Given the description of an element on the screen output the (x, y) to click on. 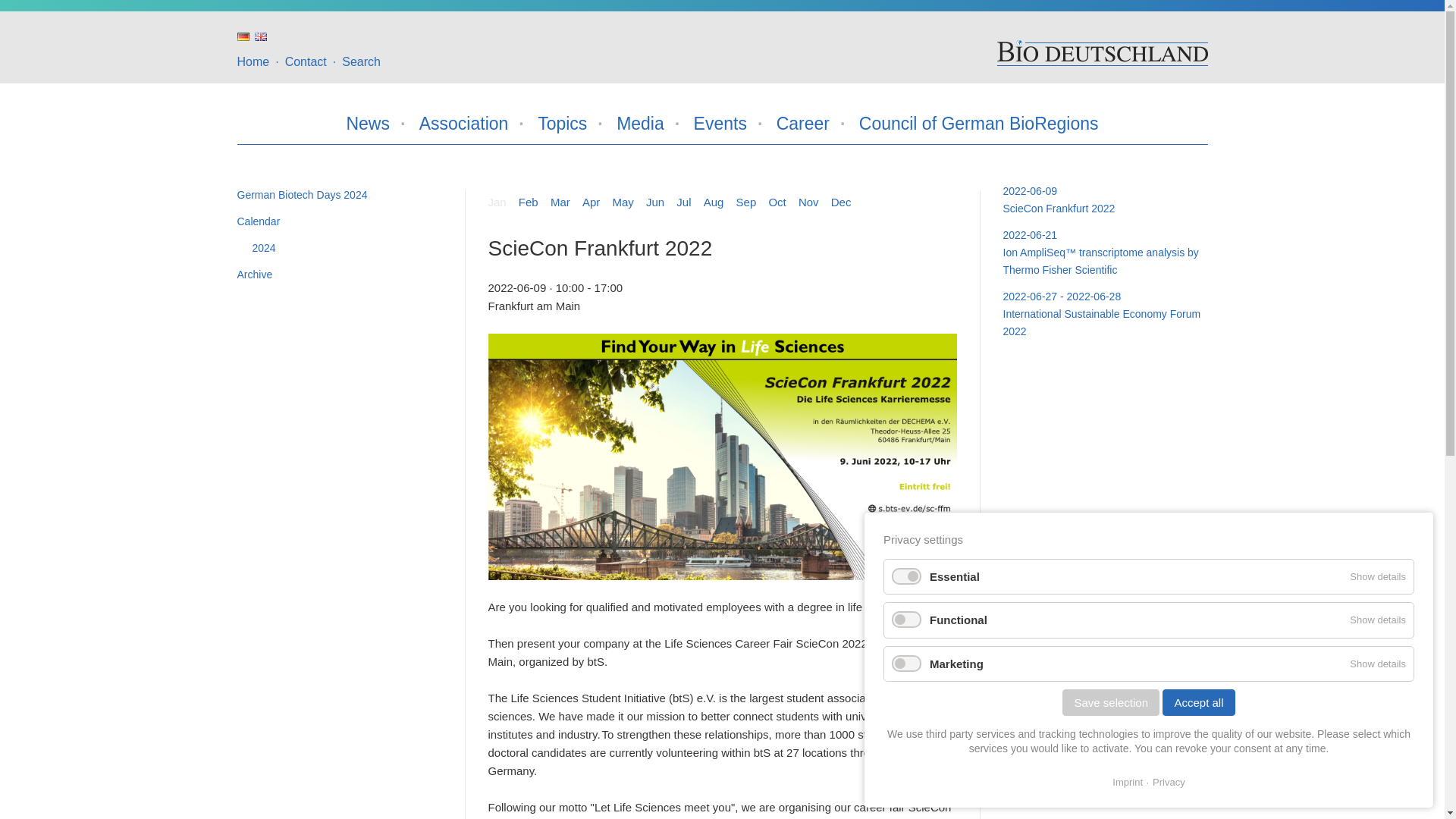
Mar (560, 202)
Search results (361, 61)
Career (802, 123)
Archive (338, 274)
Topics (561, 123)
Topics (561, 123)
Feb (528, 202)
Media (639, 123)
Home (1101, 51)
2024 (346, 248)
Oct (777, 202)
Council of German BioRegions (979, 123)
Home (252, 61)
Association (463, 123)
Home (252, 61)
